Given the description of an element on the screen output the (x, y) to click on. 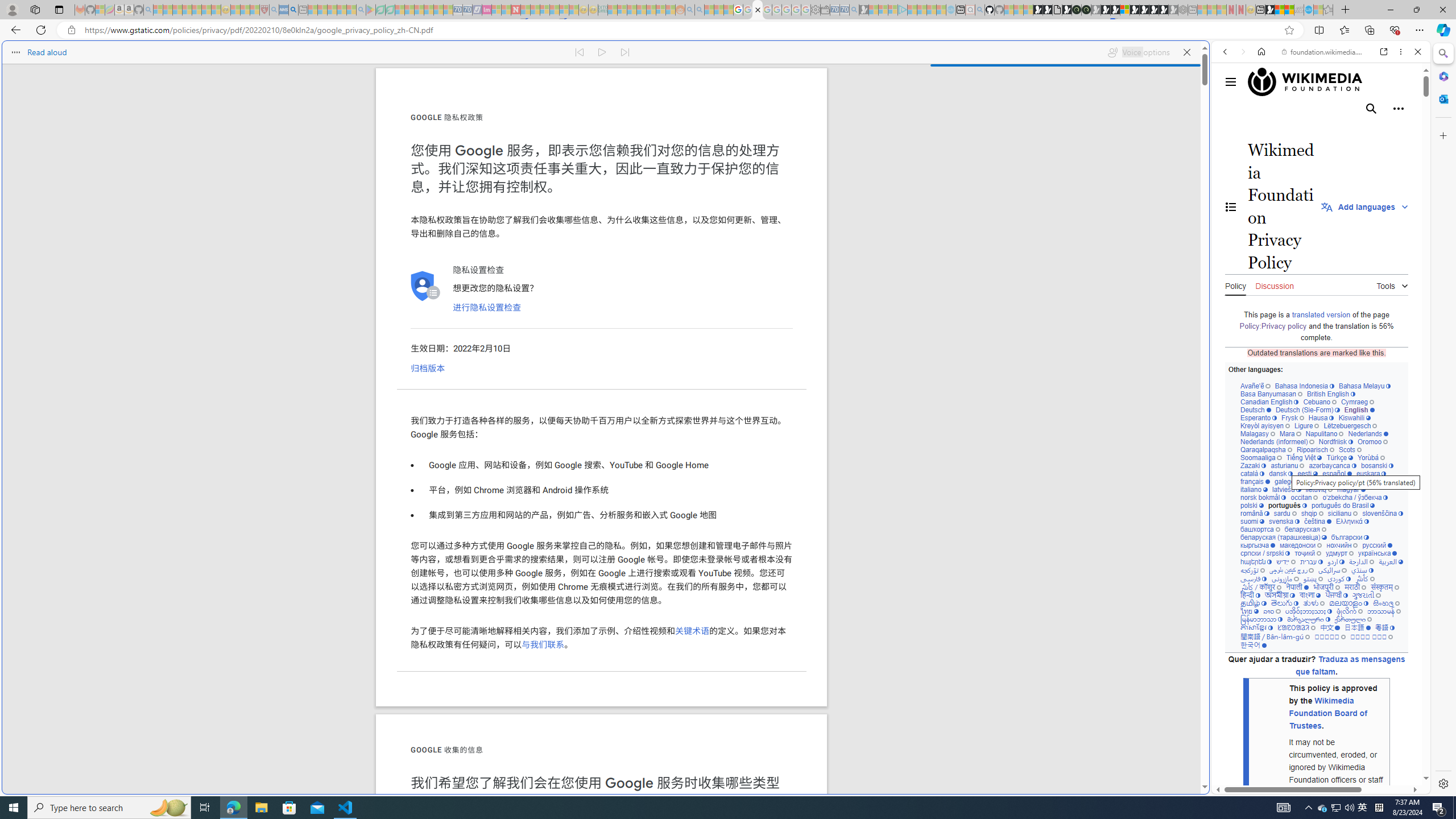
utah sues federal government - Search (292, 9)
euskara (1370, 473)
The Weather Channel - MSN - Sleeping (177, 9)
Esperanto (1258, 417)
Microsoft-Report a Concern to Bing - Sleeping (99, 9)
Wikimedia Foundation Governance Wiki (1321, 81)
Wiktionary (1315, 380)
Frysk (1292, 417)
